Given the description of an element on the screen output the (x, y) to click on. 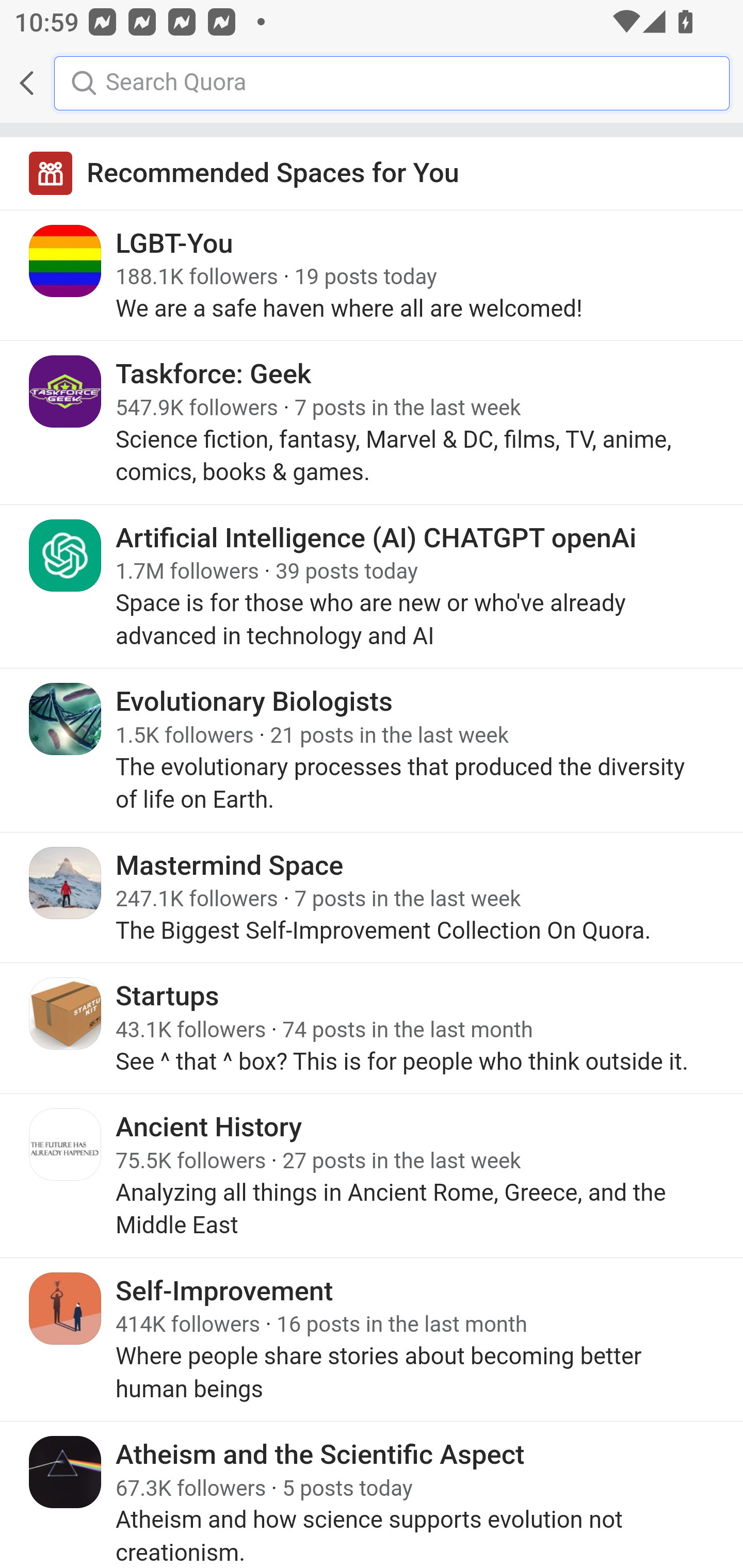
Me Home Search Add (371, 82)
Icon for LGBT-You (65, 260)
Icon for Taskforce: Geek (65, 391)
Icon for Evolutionary Biologists (65, 718)
Icon for Mastermind Space (65, 882)
Icon for Startups (65, 1013)
Icon for Ancient History (65, 1145)
Icon for Self-Improvement (65, 1308)
Icon for Atheism and the Scientific Aspect (65, 1471)
